Given the description of an element on the screen output the (x, y) to click on. 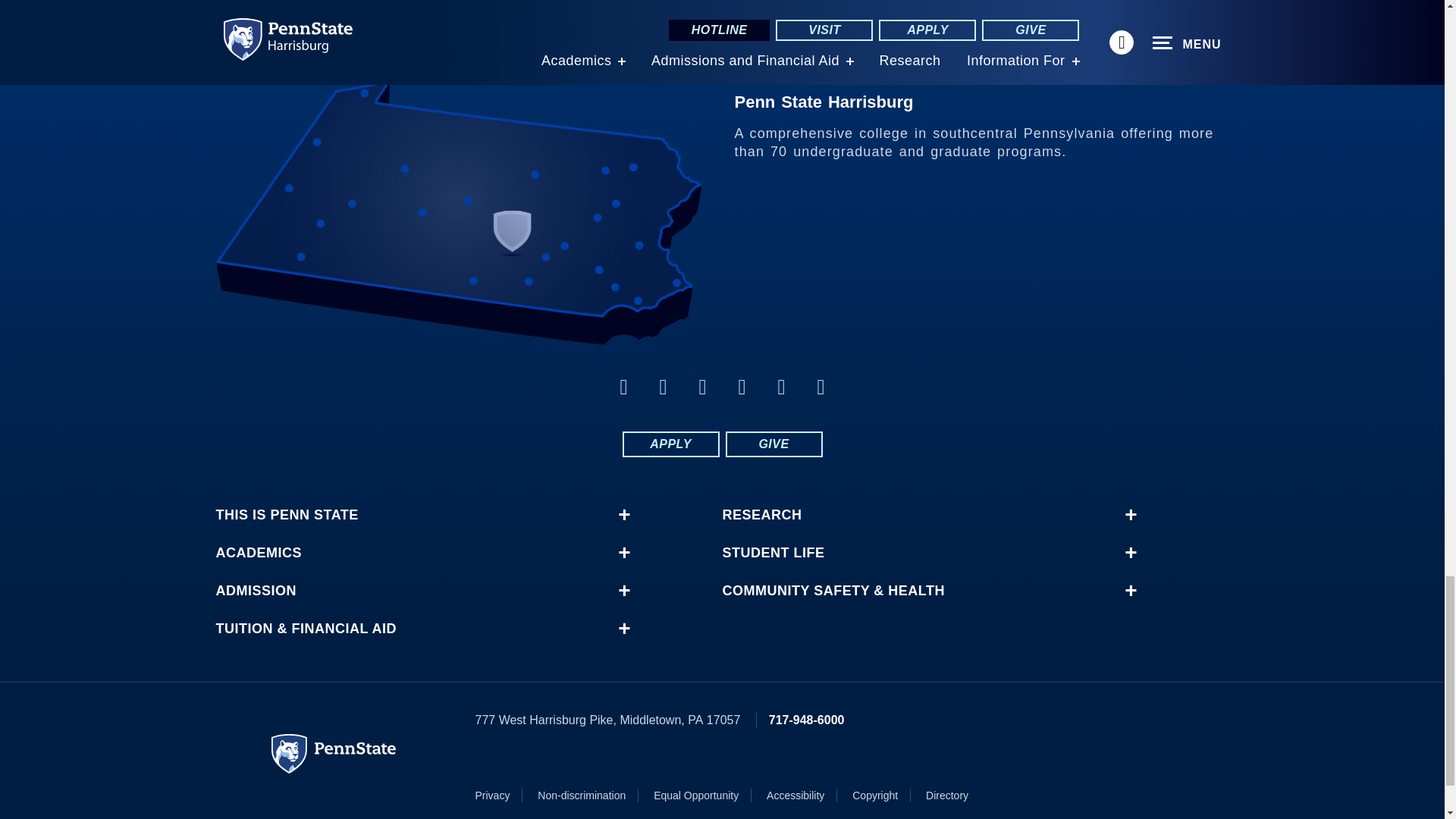
youtube (781, 386)
Penn State University (333, 753)
instagram (820, 386)
flickr (741, 386)
facebook (622, 386)
linkedin (702, 386)
twitter (662, 386)
